Given the description of an element on the screen output the (x, y) to click on. 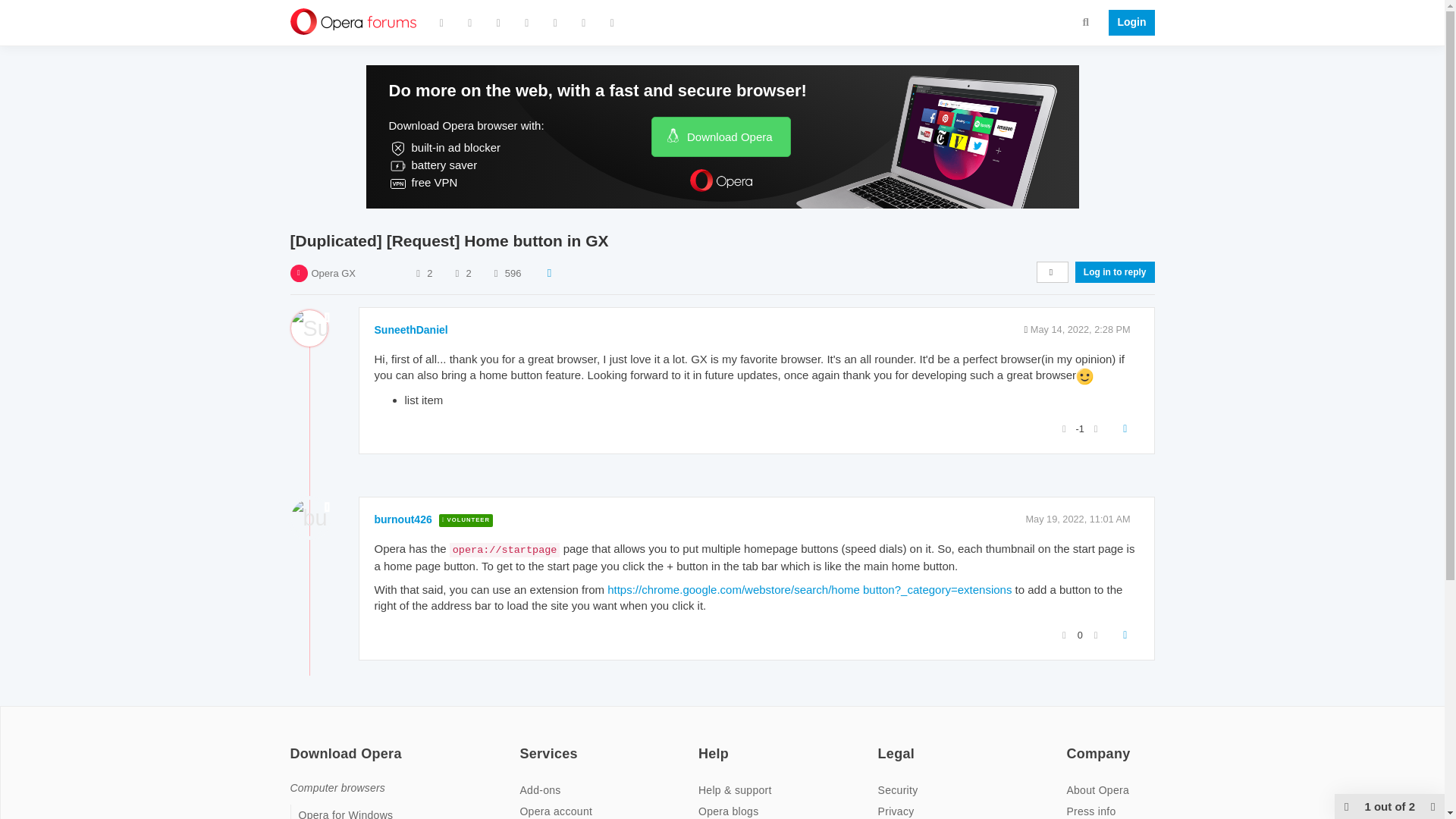
on (1070, 743)
Login (1127, 22)
Download Opera (720, 137)
Search (1085, 21)
on (523, 743)
on (293, 743)
Opera GX (333, 273)
May 14, 2022, 2:28 PM (1080, 328)
Log in to reply (1114, 271)
on (881, 743)
on (702, 743)
SuneethDaniel (411, 329)
